Given the description of an element on the screen output the (x, y) to click on. 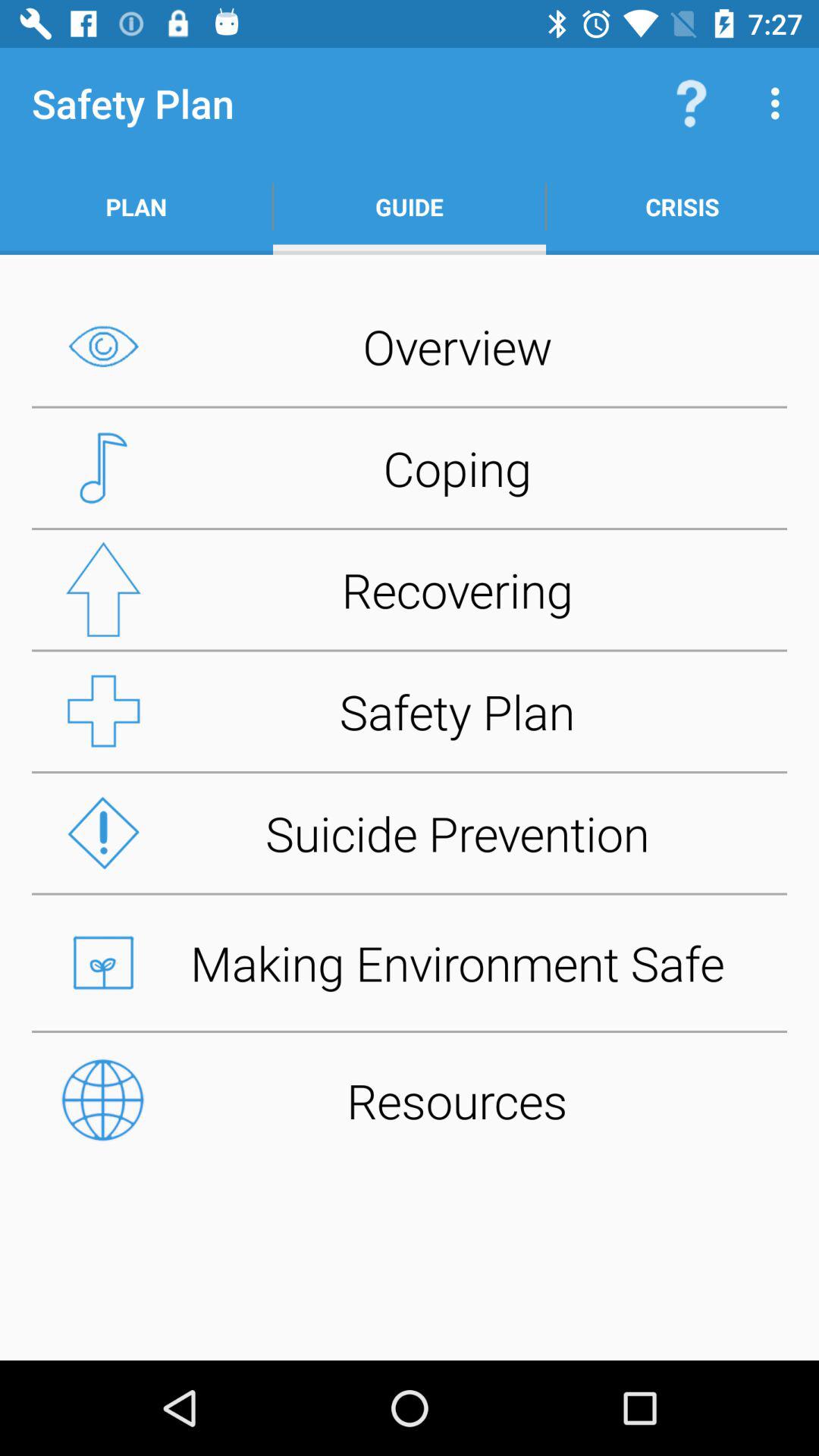
click item to the right of the guide item (691, 103)
